Given the description of an element on the screen output the (x, y) to click on. 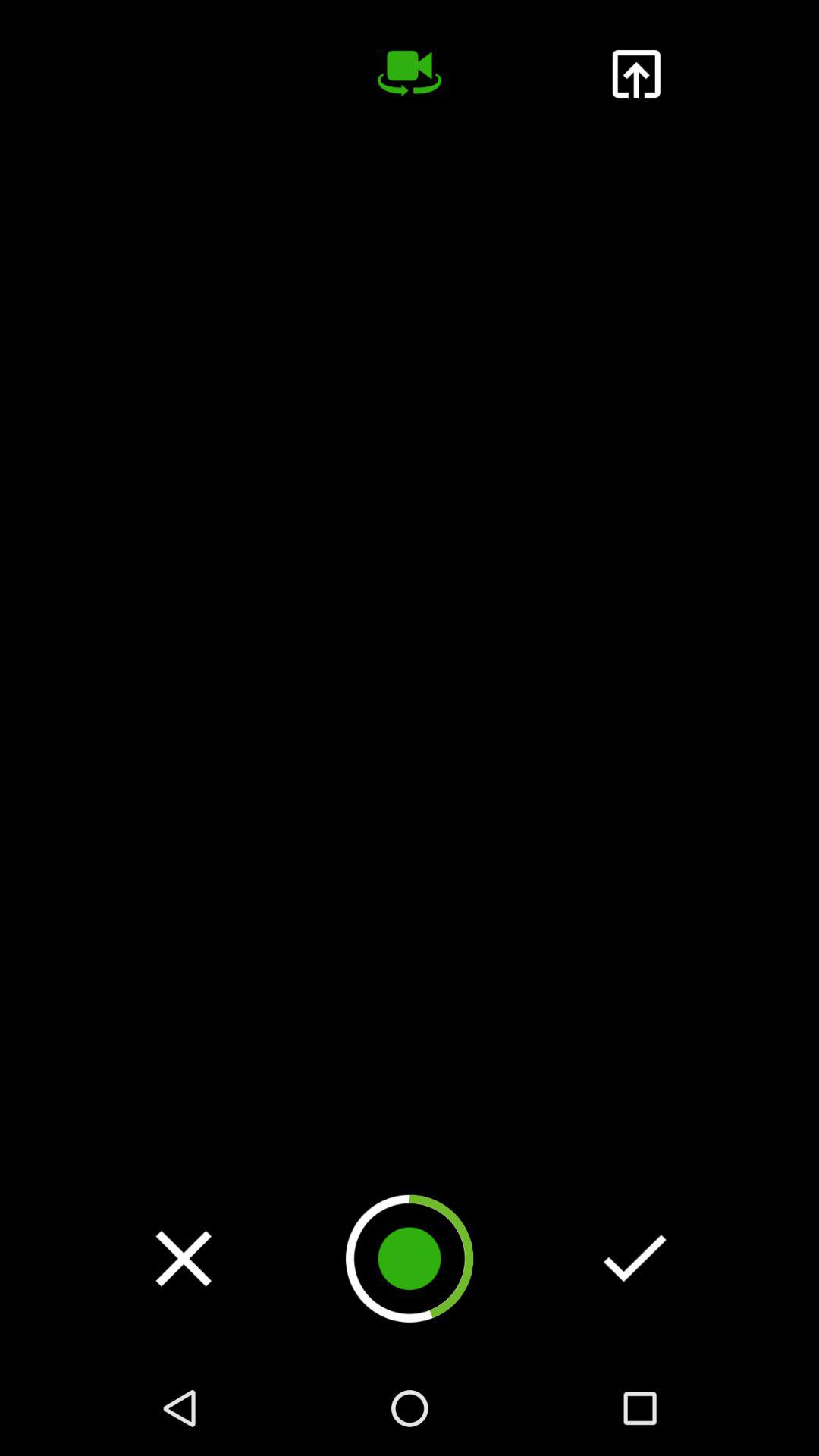
change camera (409, 73)
